Given the description of an element on the screen output the (x, y) to click on. 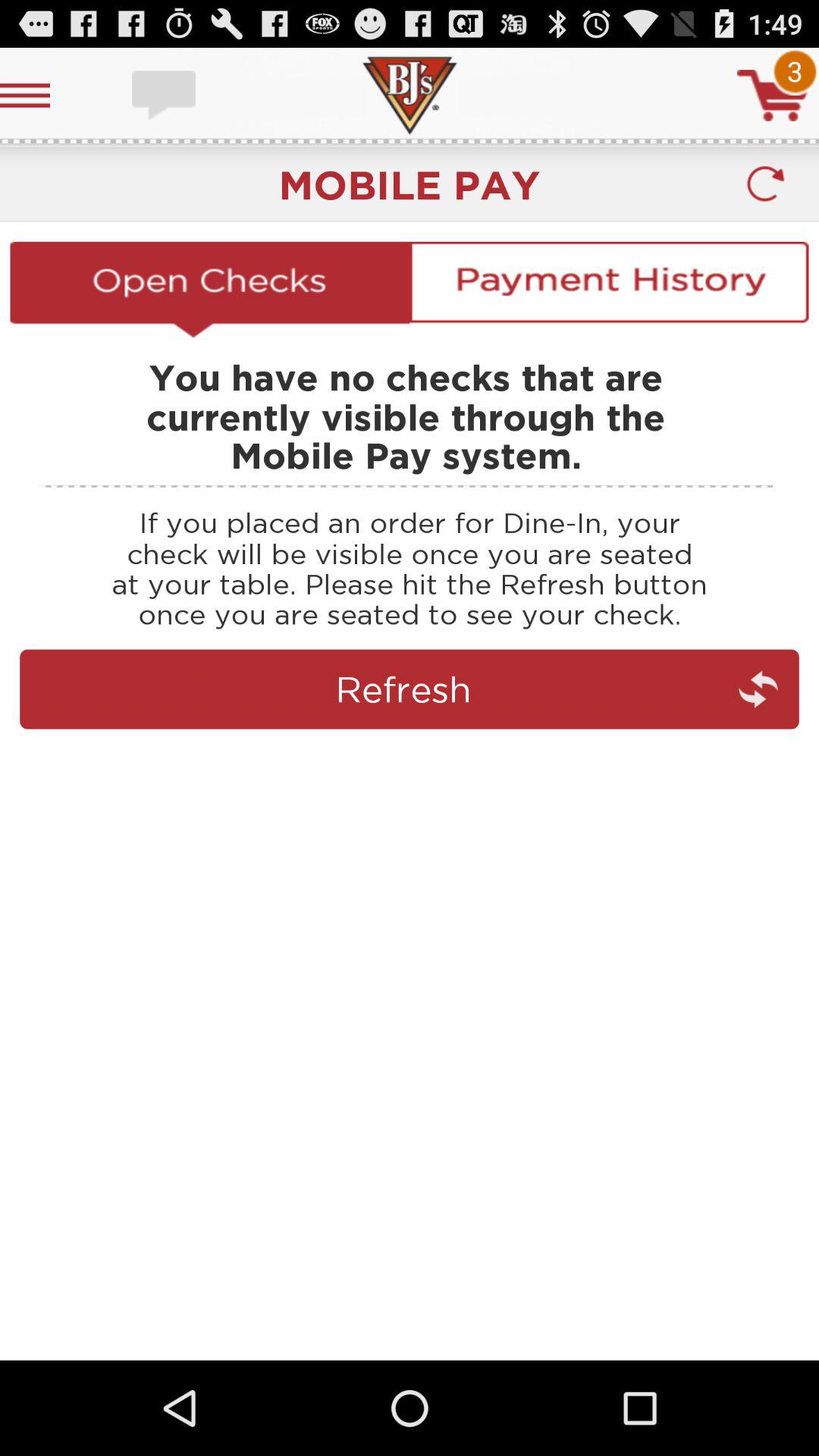
payment history (608, 289)
